Given the description of an element on the screen output the (x, y) to click on. 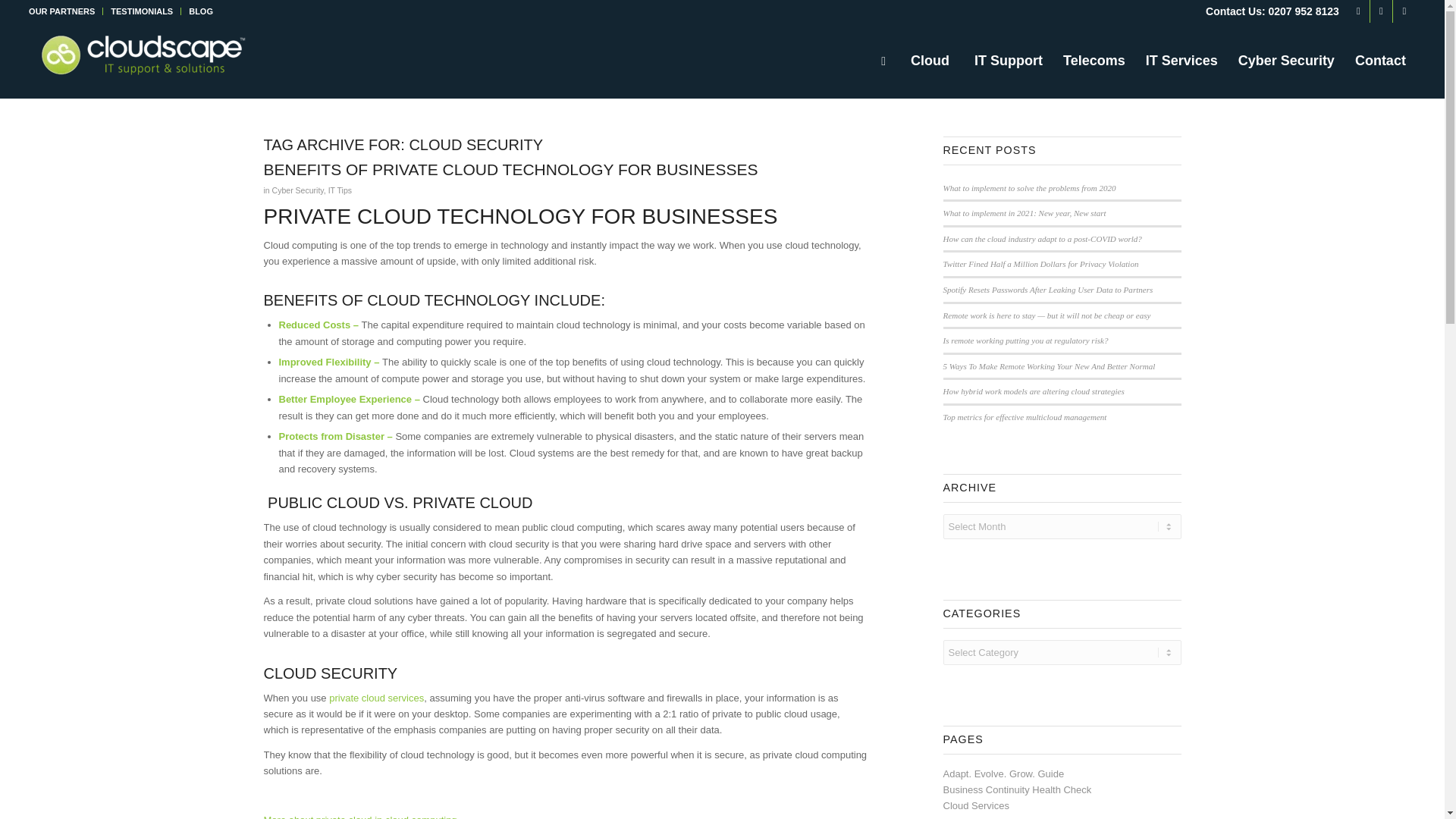
IT Support (1007, 60)
BLOG (200, 11)
TESTIMONIALS (141, 11)
private cloud services (376, 697)
What to implement to solve the problems from 2020 (1029, 187)
Cyber Security (297, 189)
LinkedIn (1404, 11)
OUR PARTNERS (61, 11)
Facebook (1359, 11)
